Given the description of an element on the screen output the (x, y) to click on. 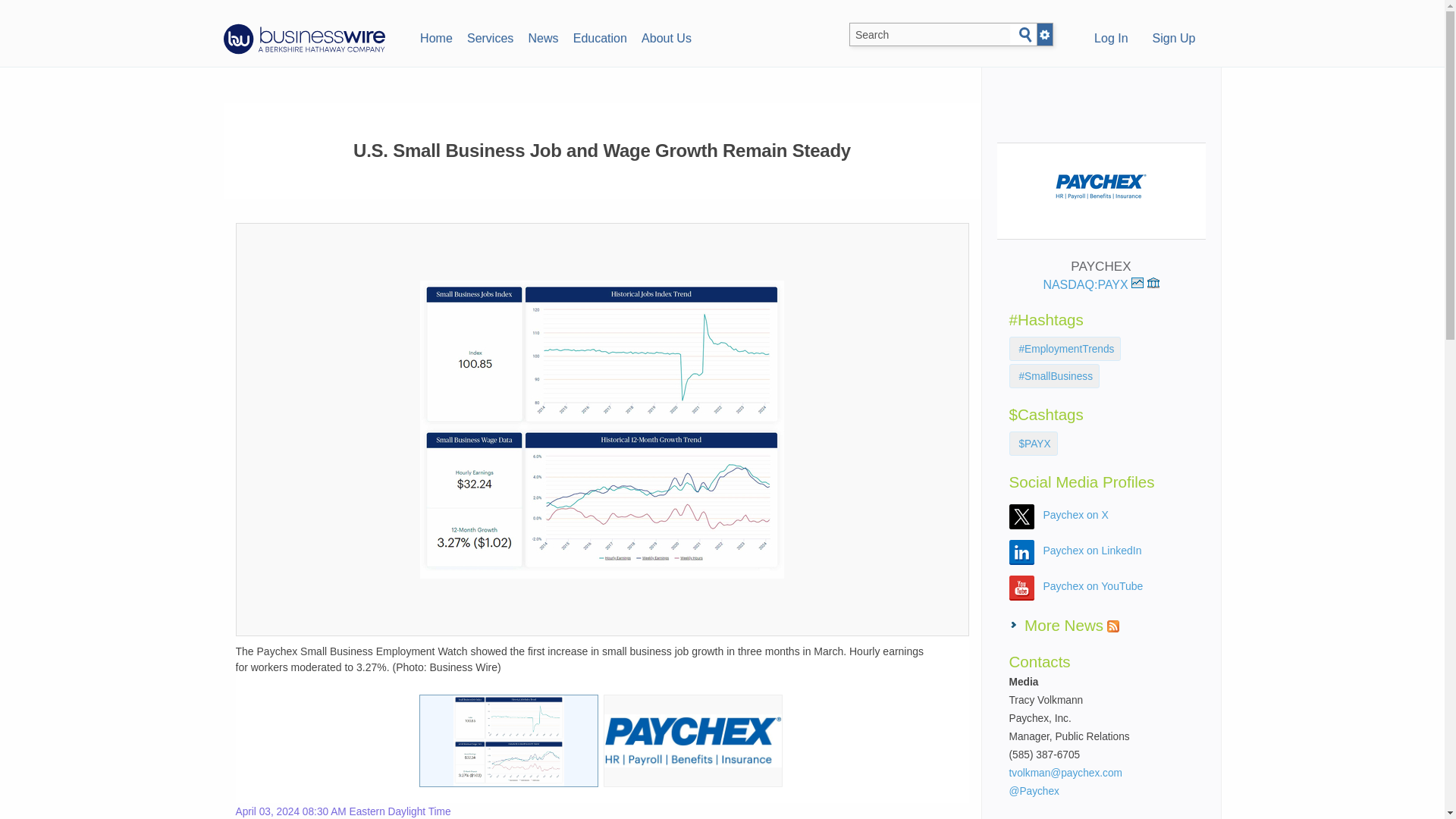
Paychex on YouTube (1092, 585)
View stock quote and chart (1136, 282)
View SEC Filings (1152, 282)
RSS feed for Paychex (1112, 625)
Paychex on LinkedIn (1092, 550)
Paychex on X (1075, 514)
NASDAQ:PAYX (1092, 284)
